Given the description of an element on the screen output the (x, y) to click on. 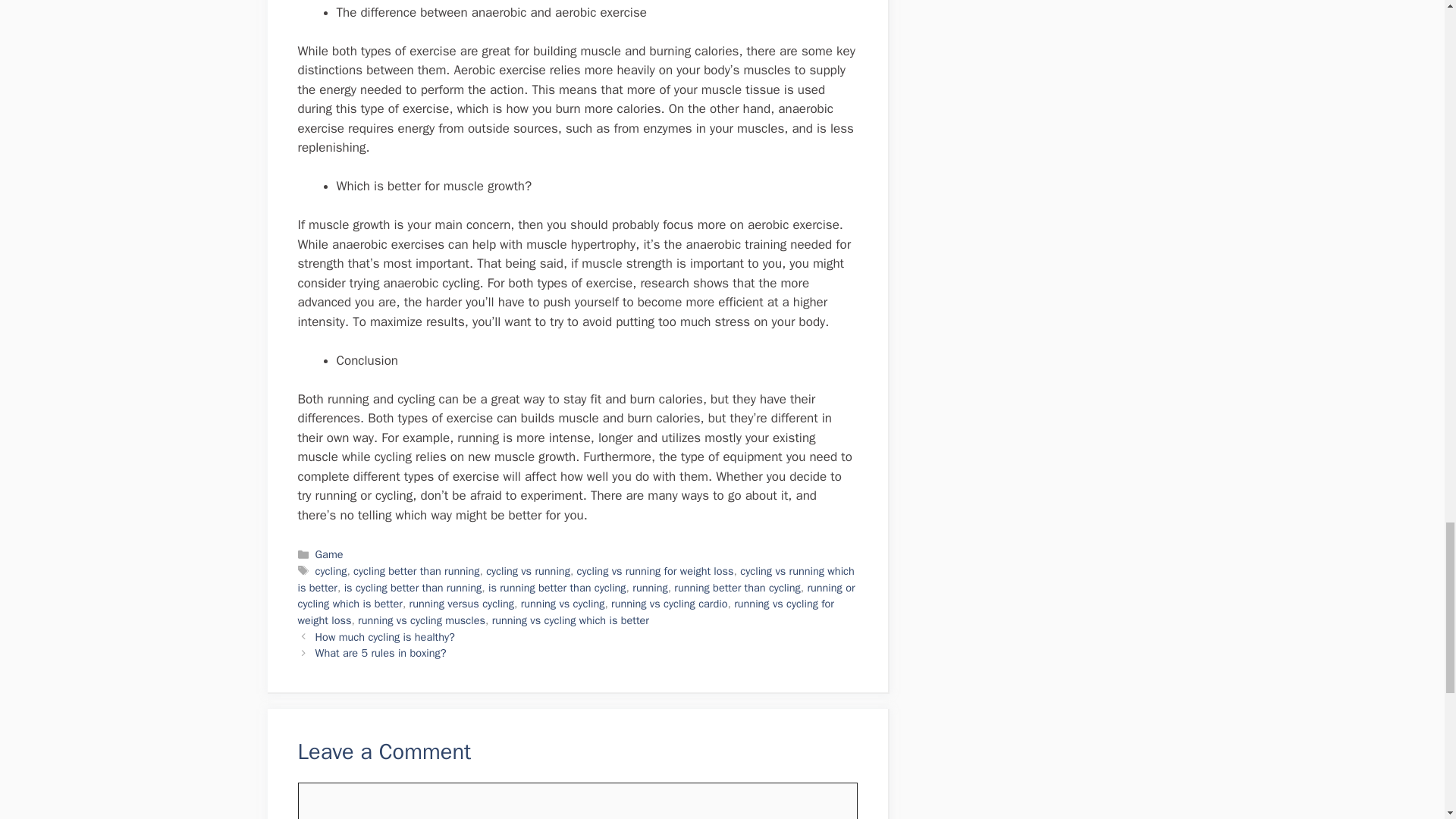
running vs cycling which is better (570, 620)
running vs cycling muscles (421, 620)
cycling vs running (528, 571)
is running better than cycling (556, 587)
cycling (331, 571)
running vs cycling (563, 603)
running better than cycling (736, 587)
cycling vs running which is better (575, 579)
running vs cycling for weight loss (564, 612)
running or cycling which is better (575, 595)
running versus cycling (461, 603)
is cycling better than running (412, 587)
What are 5 rules in boxing? (380, 653)
running vs cycling cardio (668, 603)
running (648, 587)
